Given the description of an element on the screen output the (x, y) to click on. 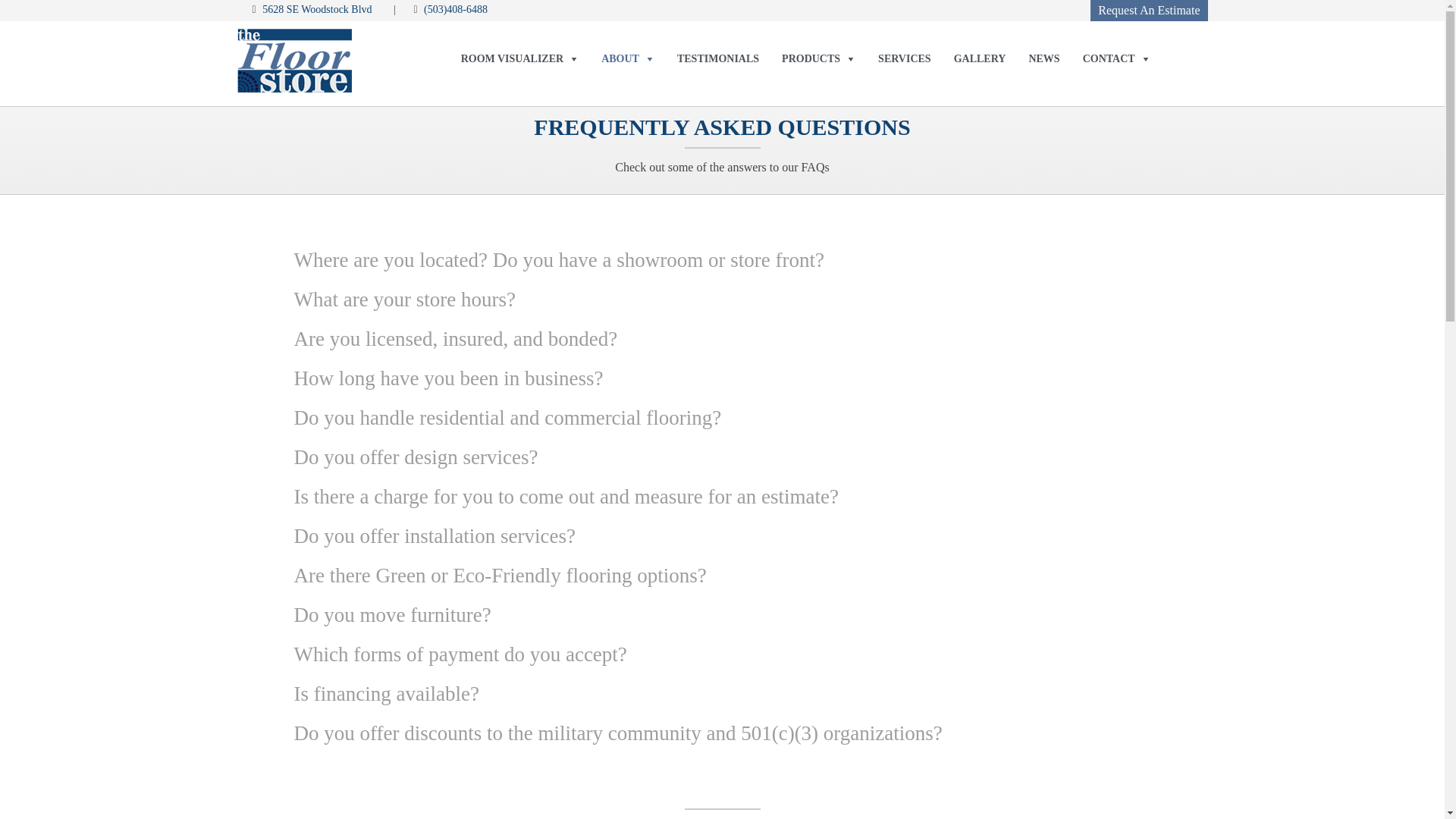
GALLERY (979, 59)
NEWS (1043, 59)
ROOM VISUALIZER (520, 59)
ABOUT (627, 59)
5628 SE Woodstock Blvd (315, 9)
SERVICES (904, 59)
TESTIMONIALS (717, 59)
Request An Estimate (1148, 10)
PRODUCTS (818, 59)
CONTACT (1116, 59)
